Given the description of an element on the screen output the (x, y) to click on. 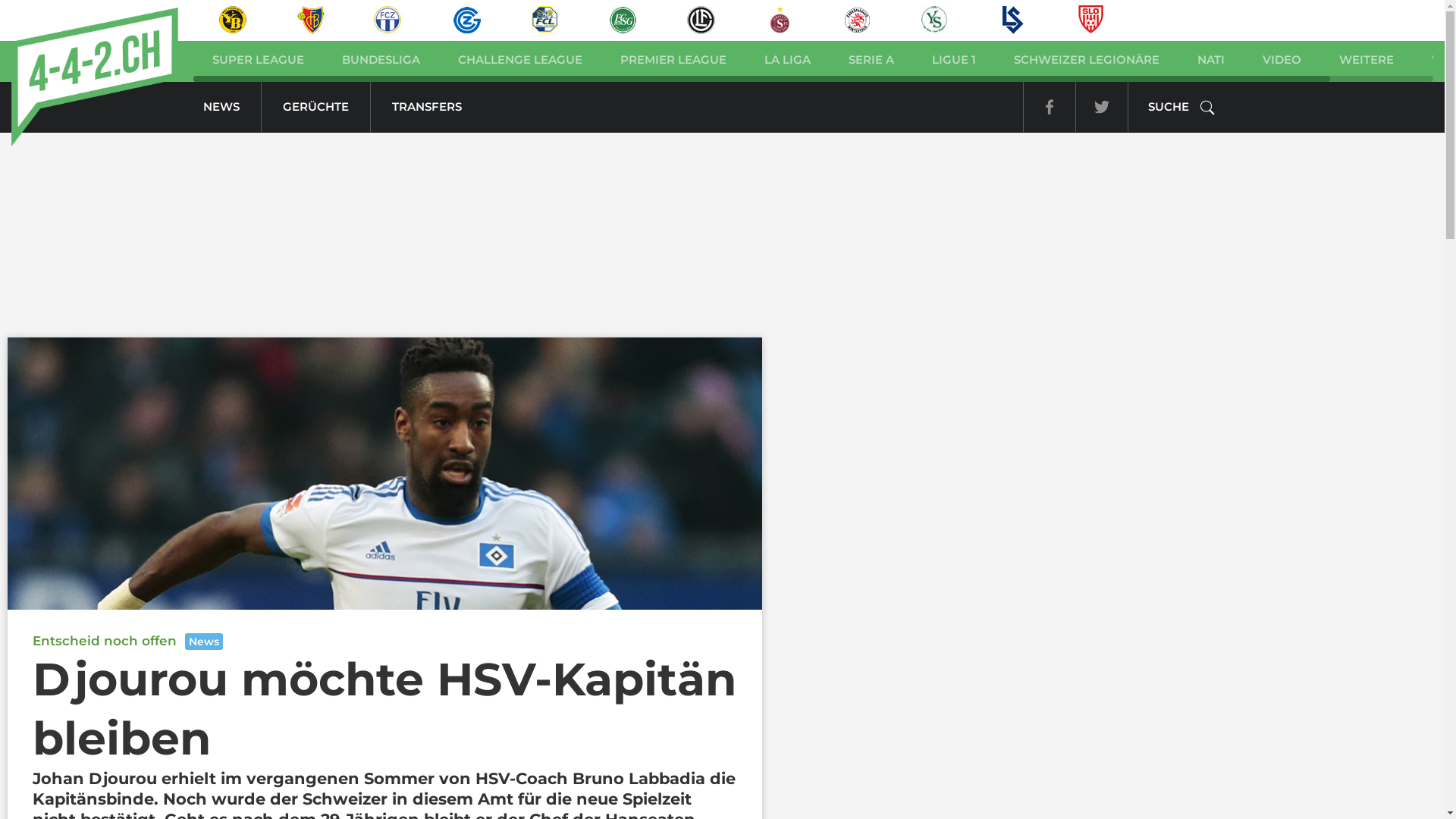
LA LIGA Element type: text (787, 57)
SUPER LEAGUE Element type: text (258, 57)
SERIE A Element type: text (871, 57)
VIDEO Element type: text (1281, 57)
LIGUE 1 Element type: text (953, 57)
NATI Element type: text (1210, 57)
SUCHE Element type: text (1181, 106)
3rd party ad content Element type: hover (883, 367)
NEWS Element type: text (221, 106)
TRANSFERS Element type: text (426, 106)
PREMIER LEAGUE Element type: text (673, 57)
WEITERE Element type: text (1366, 57)
CHALLENGE LEAGUE Element type: text (520, 57)
BUNDESLIGA Element type: text (381, 57)
News Element type: text (203, 641)
3rd party ad content Element type: hover (384, 234)
